Given the description of an element on the screen output the (x, y) to click on. 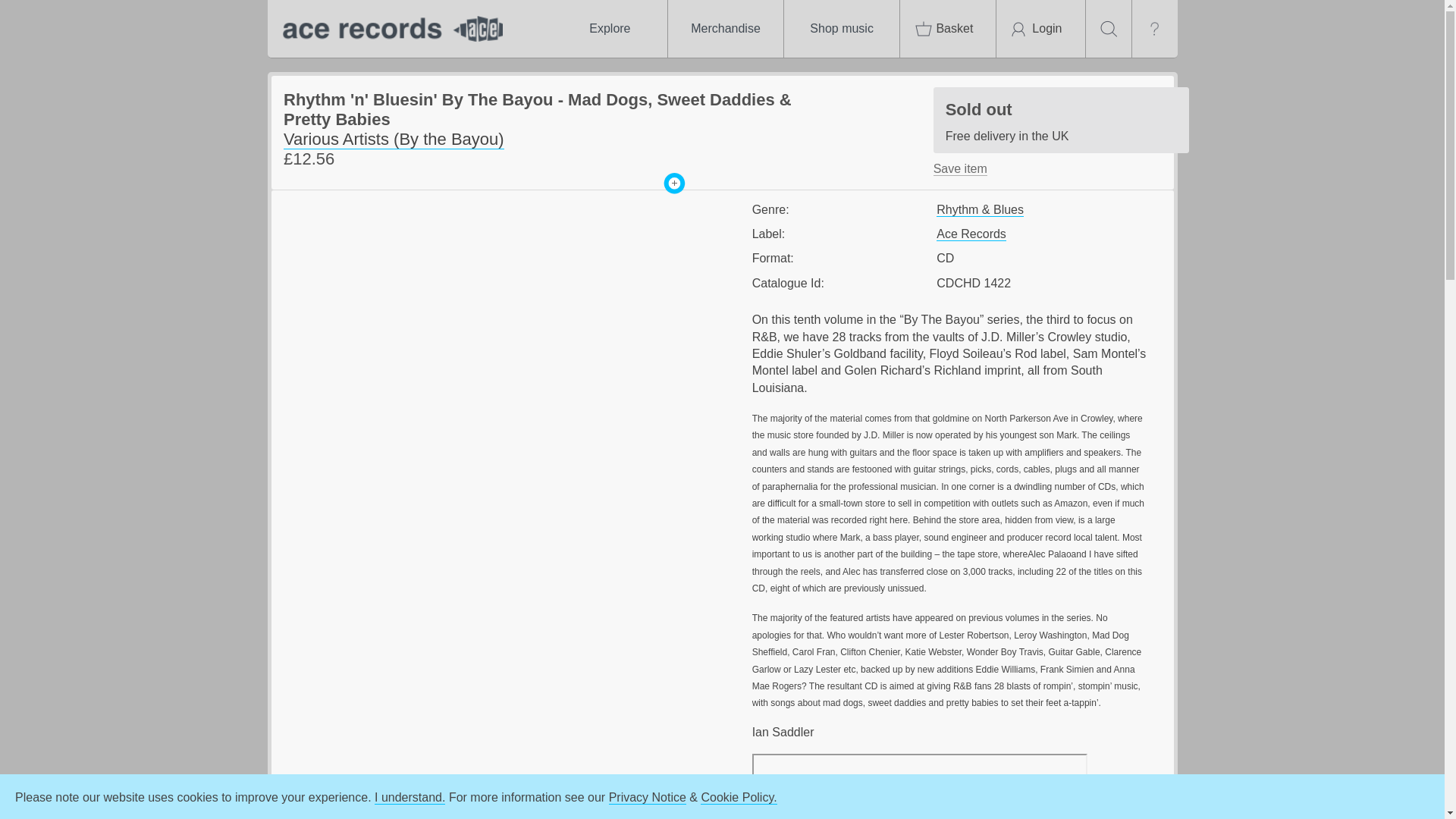
Ace Records (971, 233)
Ace Records (388, 28)
Save item (1061, 119)
Login (960, 169)
Basket (1039, 28)
Merchandise (947, 28)
Shop music (725, 28)
Explore (841, 28)
